Given the description of an element on the screen output the (x, y) to click on. 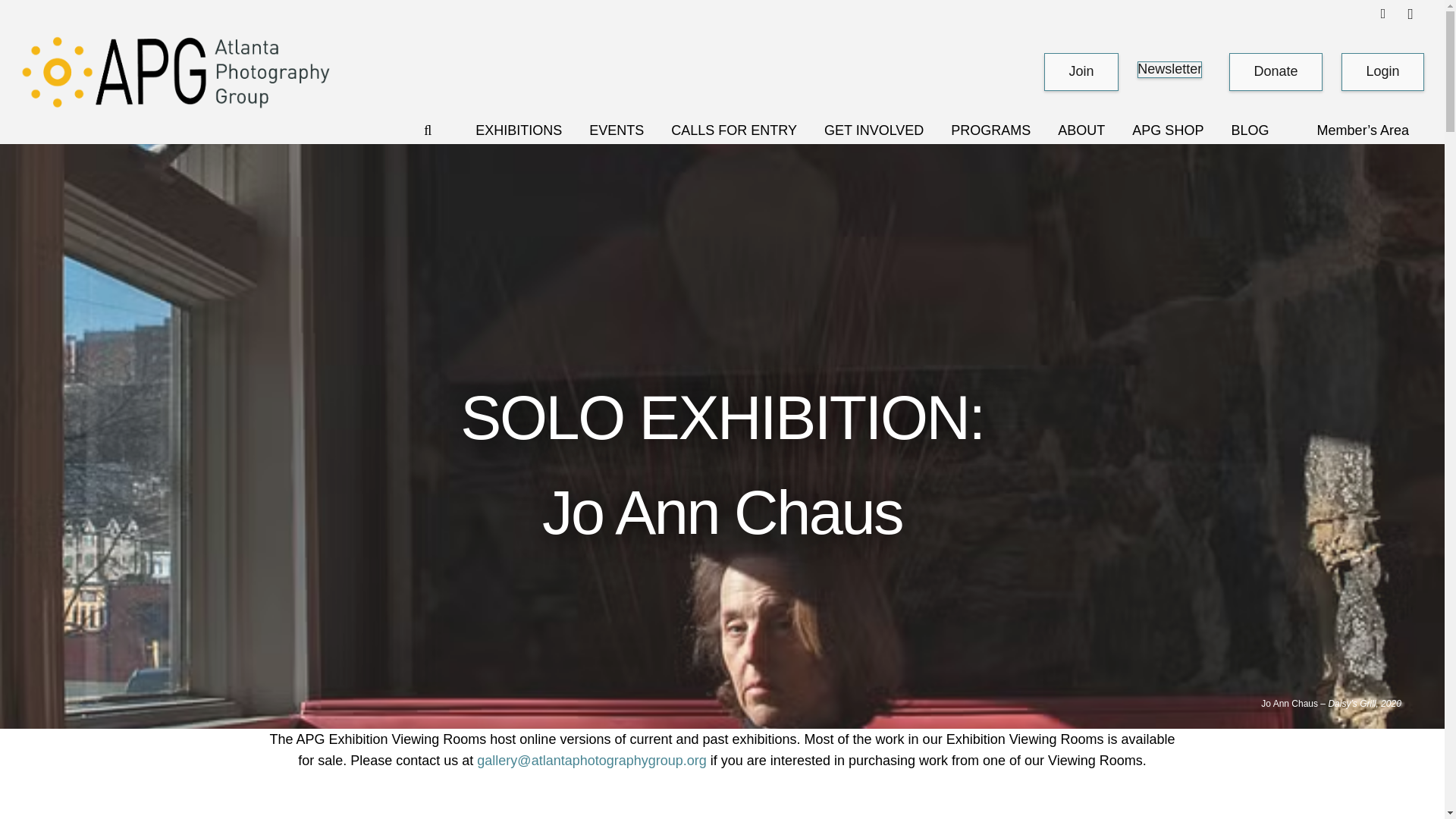
Instagram (1409, 13)
Facebook (1383, 13)
CALLS FOR ENTRY (734, 130)
GET INVOLVED (873, 130)
Login (1381, 72)
EXHIBITIONS (518, 130)
PROGRAMS (990, 130)
EVENTS (616, 130)
Join (1080, 71)
Newsletter (1169, 69)
Donate (1275, 71)
